Given the description of an element on the screen output the (x, y) to click on. 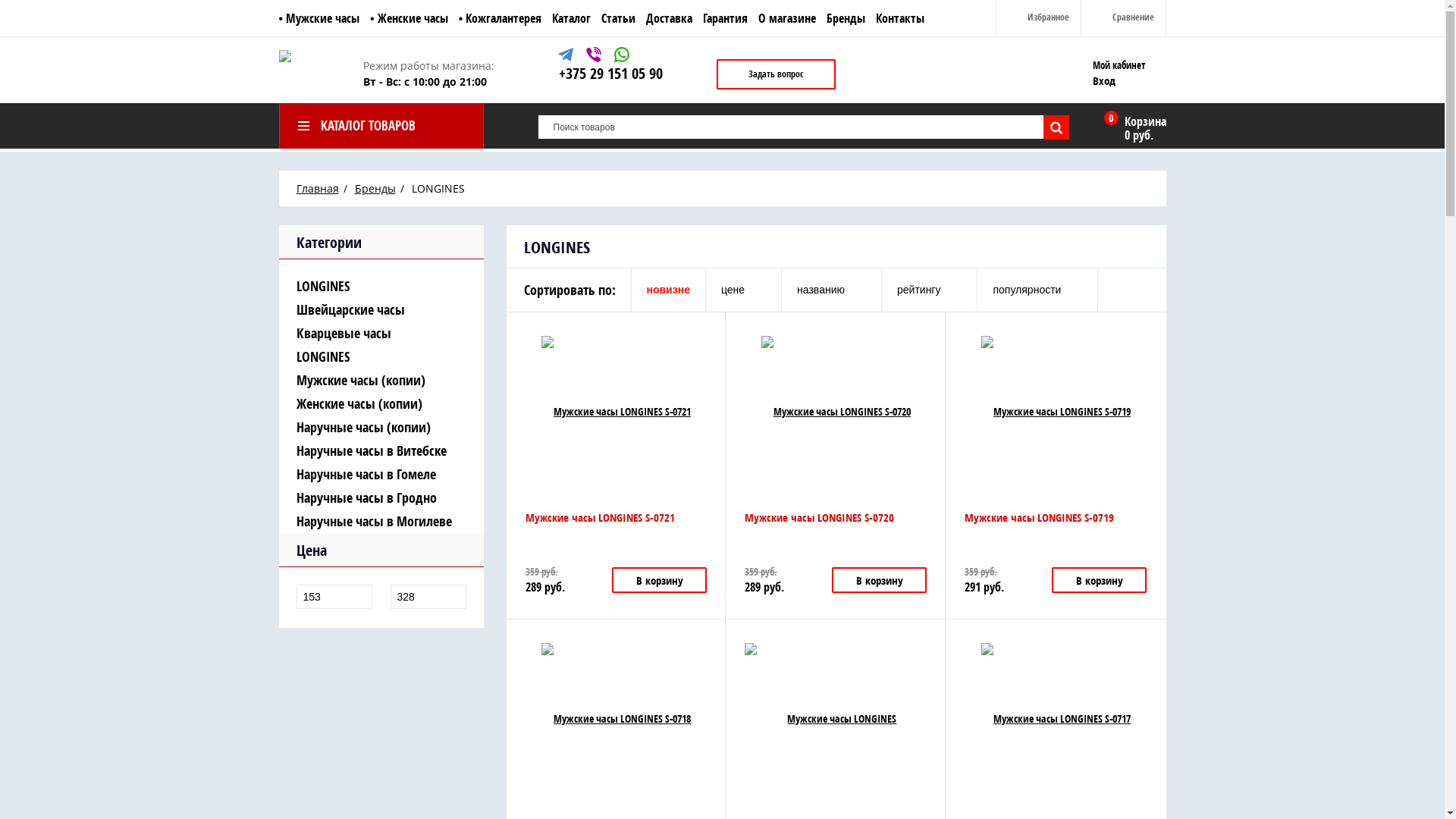
Telegram Element type: hover (567, 56)
WhatsApp Element type: hover (621, 56)
Viber Element type: hover (594, 56)
LONGINES Element type: text (380, 286)
+375 29 151 05 90 Element type: text (610, 72)
LONGINES Element type: text (380, 356)
